Given the description of an element on the screen output the (x, y) to click on. 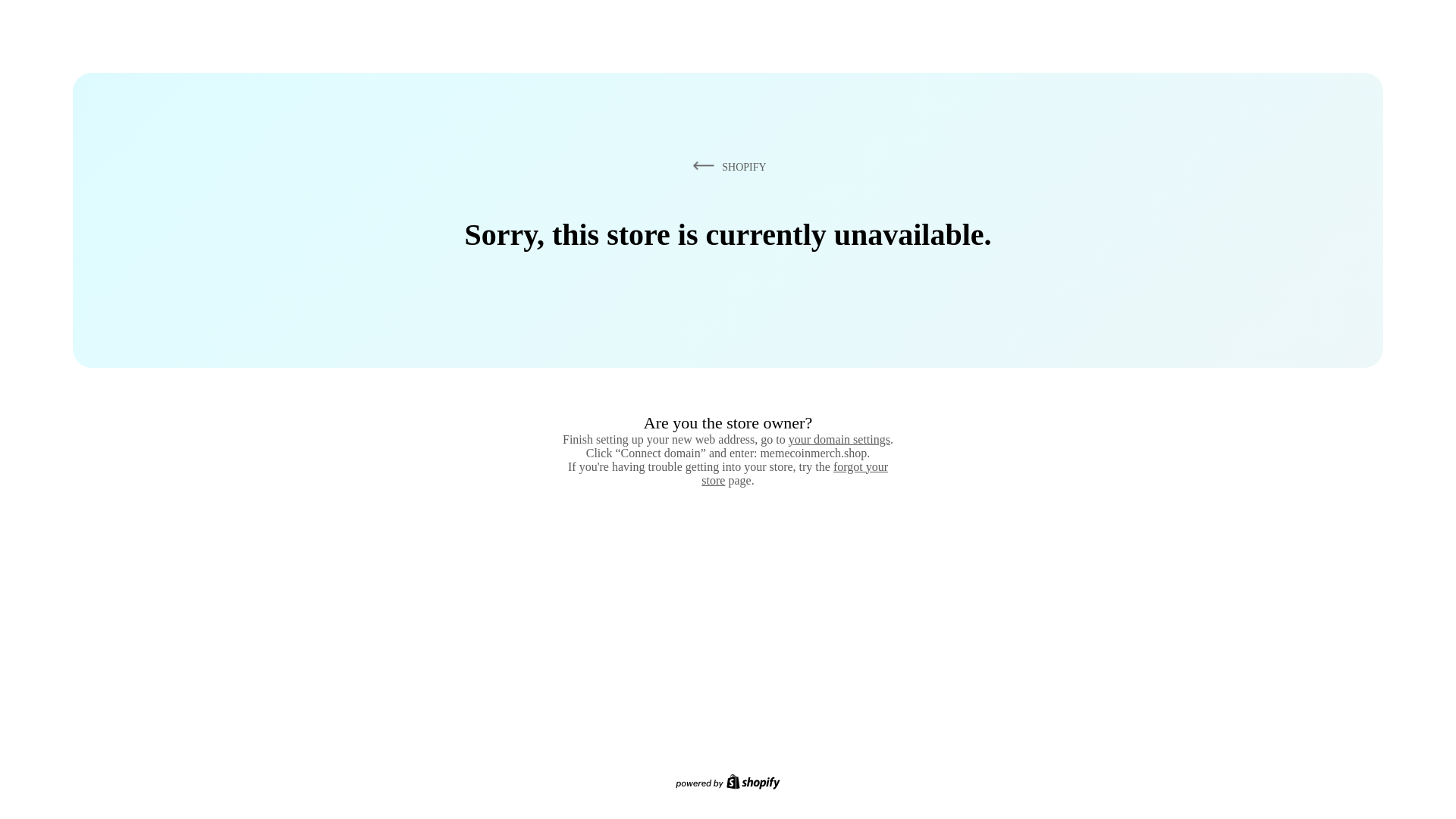
SHOPIFY (726, 166)
forgot your store (794, 473)
your domain settings (839, 439)
